Given the description of an element on the screen output the (x, y) to click on. 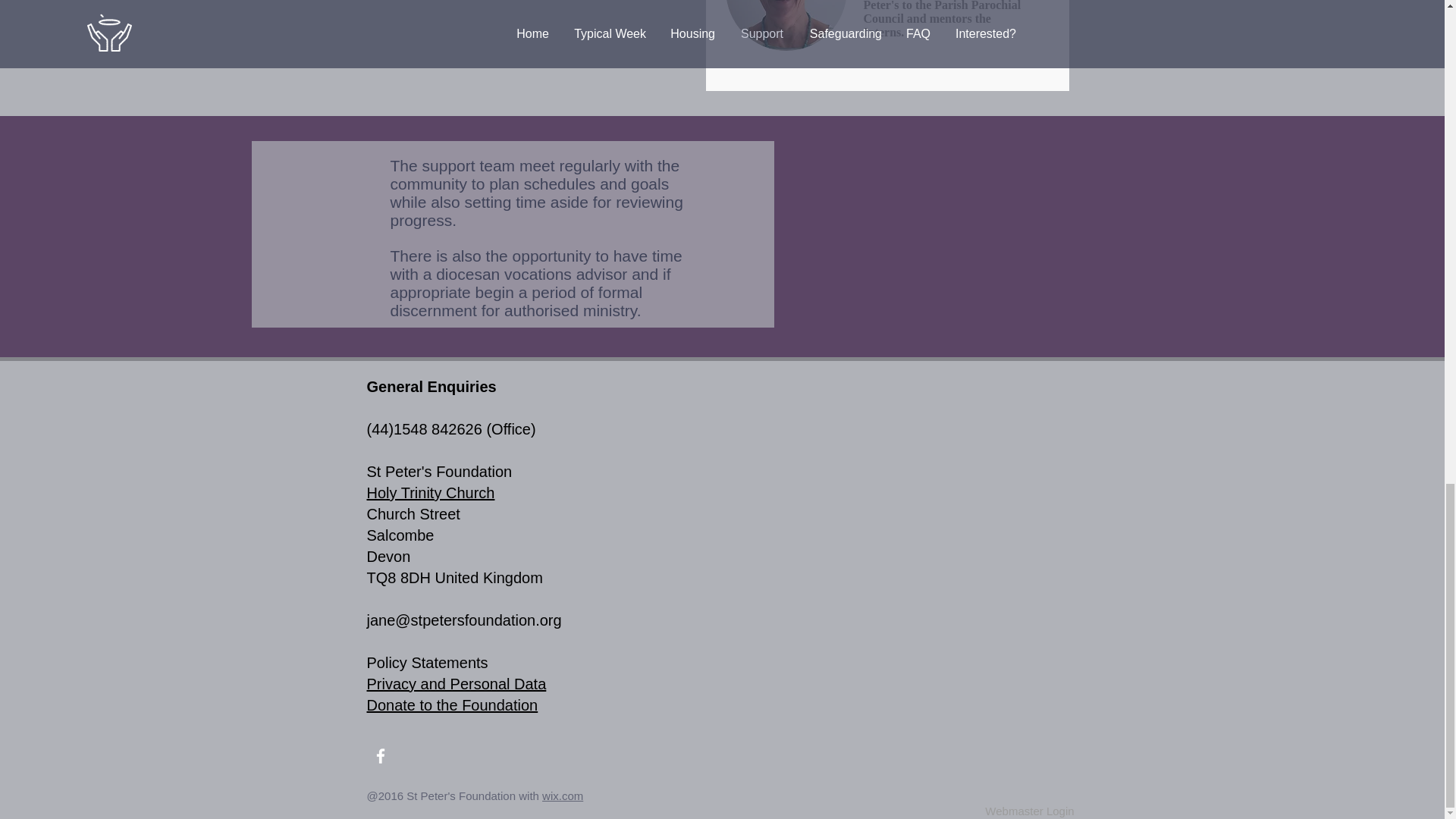
Holy Trinity Church (430, 492)
Privacy and Personal Data (456, 683)
Donate to the Foundation (452, 704)
wix.com (562, 795)
